Given the description of an element on the screen output the (x, y) to click on. 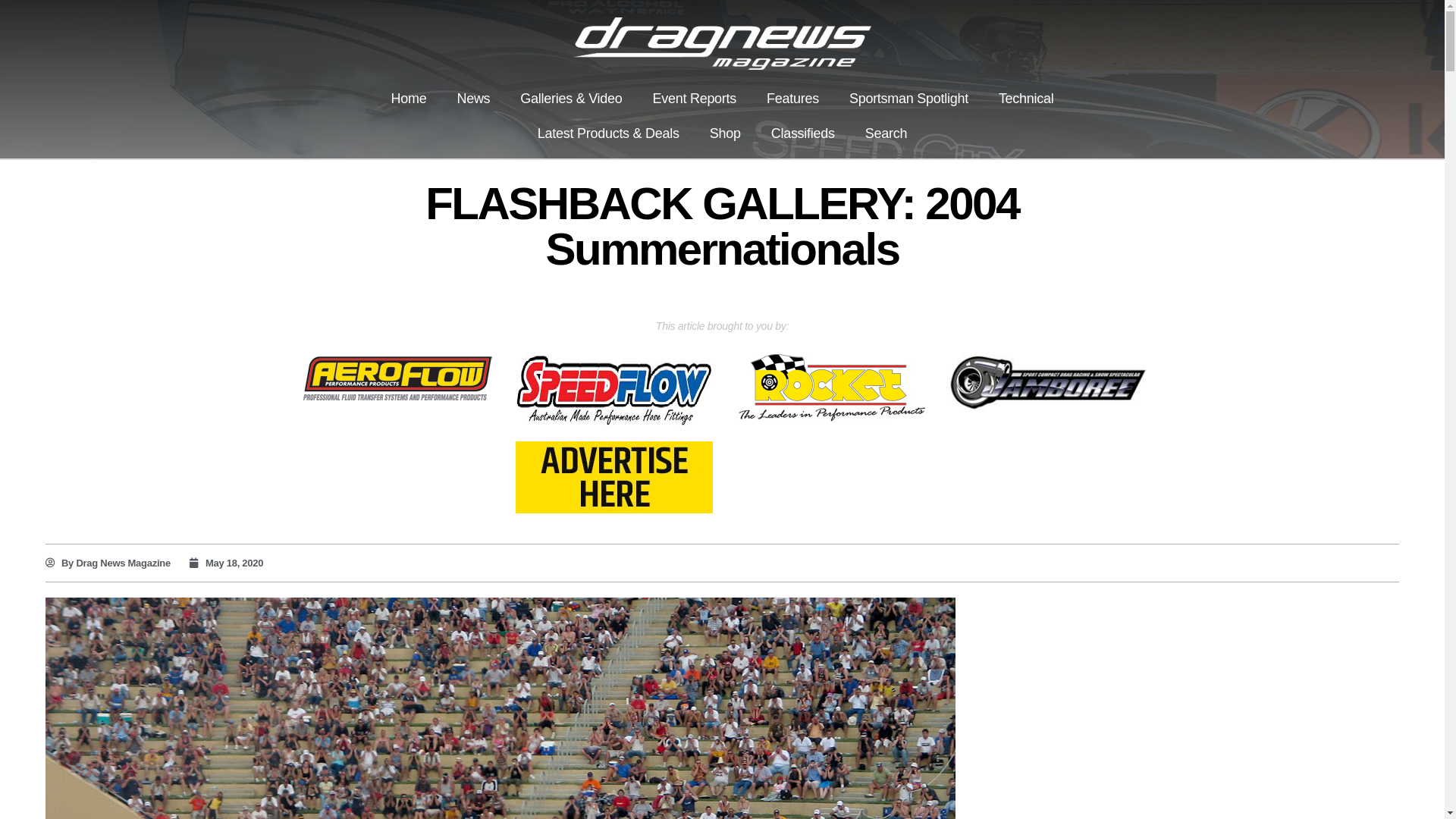
Galleries & Video Element type: text (571, 98)
May 18, 2020 Element type: text (226, 563)
Classifieds Element type: text (803, 133)
News Element type: text (473, 98)
Features Element type: text (792, 98)
Event Reports Element type: text (694, 98)
Search Element type: text (886, 133)
Sportsman Spotlight Element type: text (908, 98)
Shop Element type: text (725, 133)
Home Element type: text (408, 98)
By Drag News Magazine Element type: text (107, 563)
Technical Element type: text (1026, 98)
Latest Products & Deals Element type: text (608, 133)
